Given the description of an element on the screen output the (x, y) to click on. 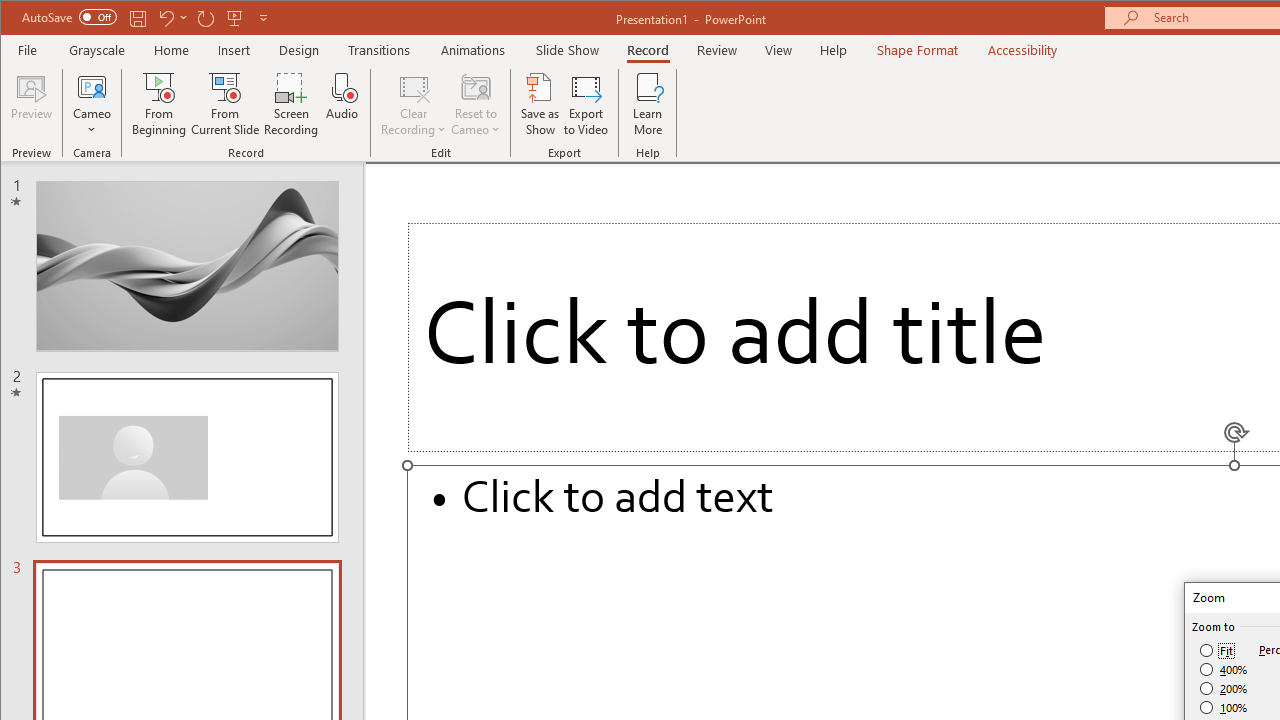
400% (1224, 669)
Fit (1217, 650)
Reset to Cameo (476, 104)
200% (1224, 688)
Learn More (648, 104)
